Given the description of an element on the screen output the (x, y) to click on. 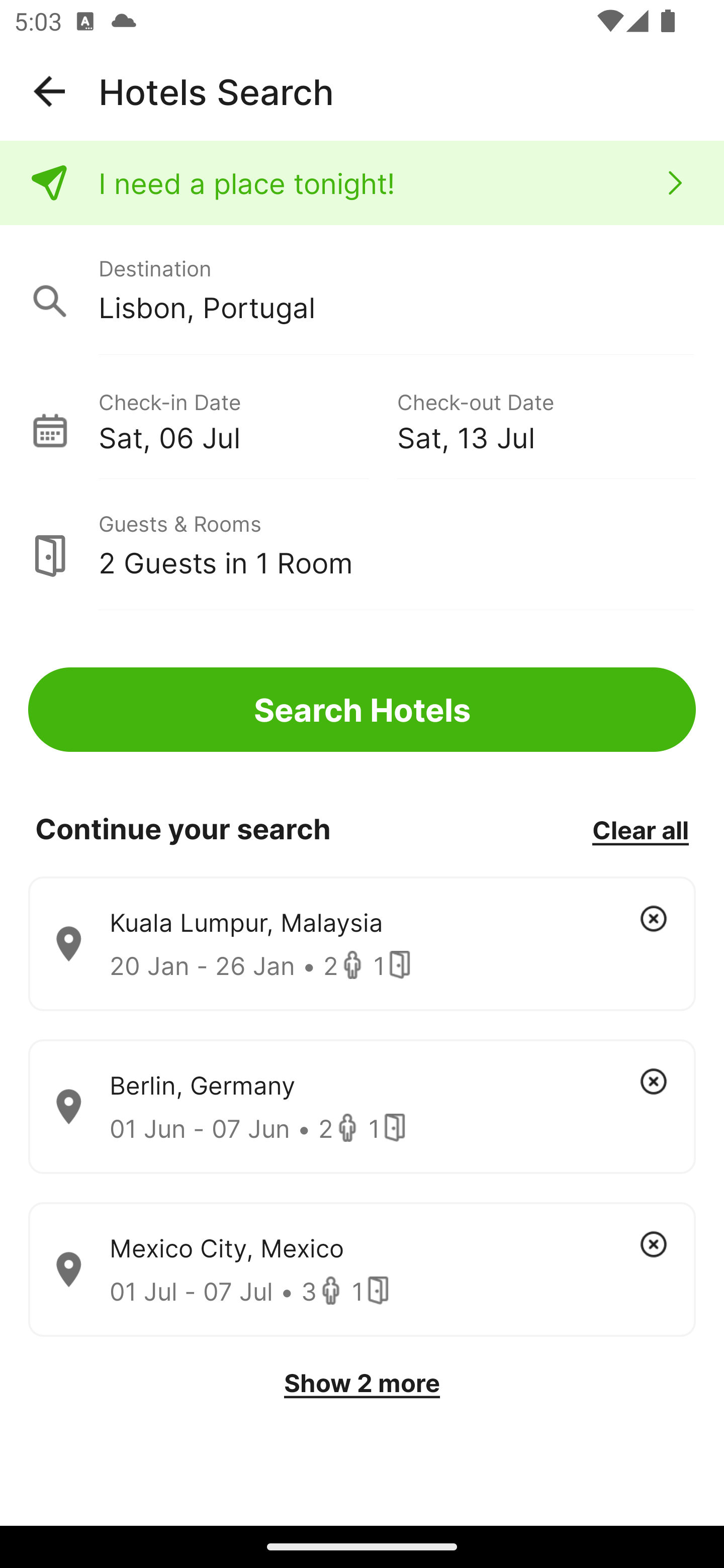
I need a place tonight! (362, 183)
Destination Lisbon, Portugal (362, 290)
Check-in Date Sat, 06 Jul (247, 418)
Check-out Date Sat, 13 Jul (546, 418)
Guests & Rooms 2 Guests in 1 Room (362, 545)
Search Hotels (361, 709)
Clear all (640, 829)
Kuala Lumpur, Malaysia 20 Jan - 26 Jan • 2  1  (361, 943)
Berlin, Germany 01 Jun - 07 Jun • 2  1  (361, 1106)
Mexico City, Mexico 01 Jul - 07 Jul • 3  1  (361, 1269)
Show 2 more (362, 1382)
